Given the description of an element on the screen output the (x, y) to click on. 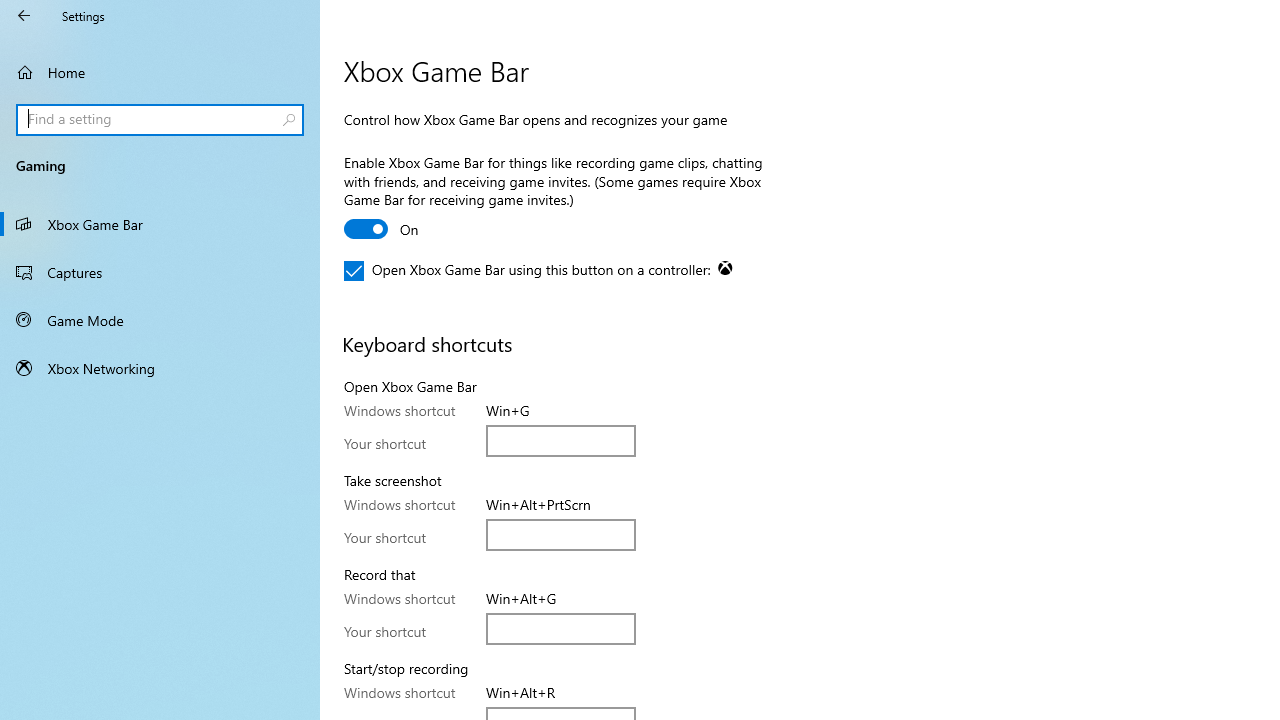
Xbox Game Bar (160, 223)
Captures (160, 271)
AutomationID: ShortcutTextBox (561, 628)
Search box, Find a setting (160, 119)
Game Mode (160, 319)
Xbox Networking (160, 367)
